Given the description of an element on the screen output the (x, y) to click on. 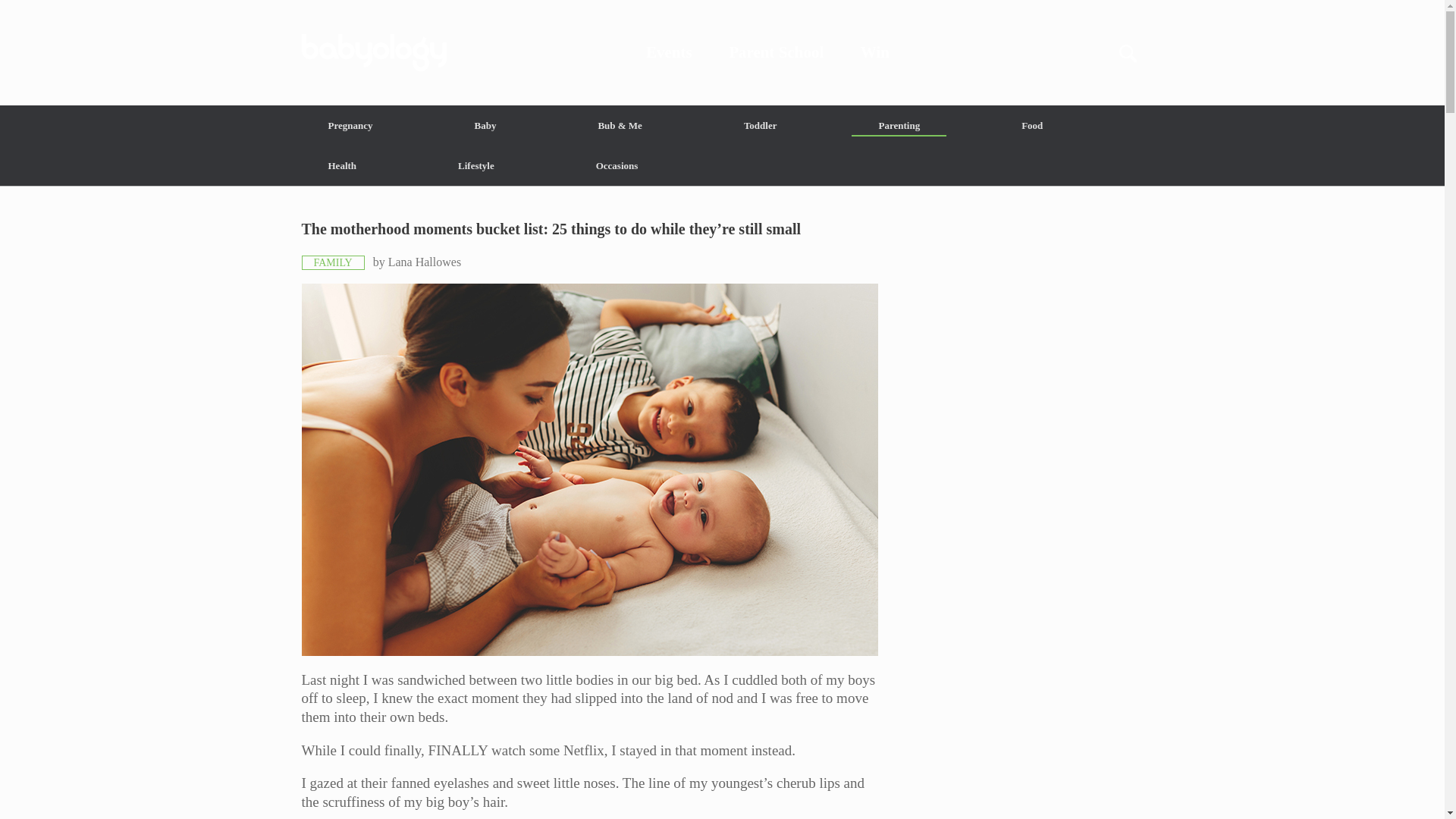
Occasions (617, 165)
Lifestyle (475, 165)
Parent School (776, 52)
View all posts by Lana Hallowes (424, 261)
Pregnancy (349, 125)
Baby (484, 125)
Win (874, 52)
FAMILY (333, 262)
Food (1031, 125)
Babyology (721, 52)
Lana Hallowes (424, 261)
Health (342, 165)
Parenting (898, 125)
Toddler (760, 125)
Events (669, 52)
